Given the description of an element on the screen output the (x, y) to click on. 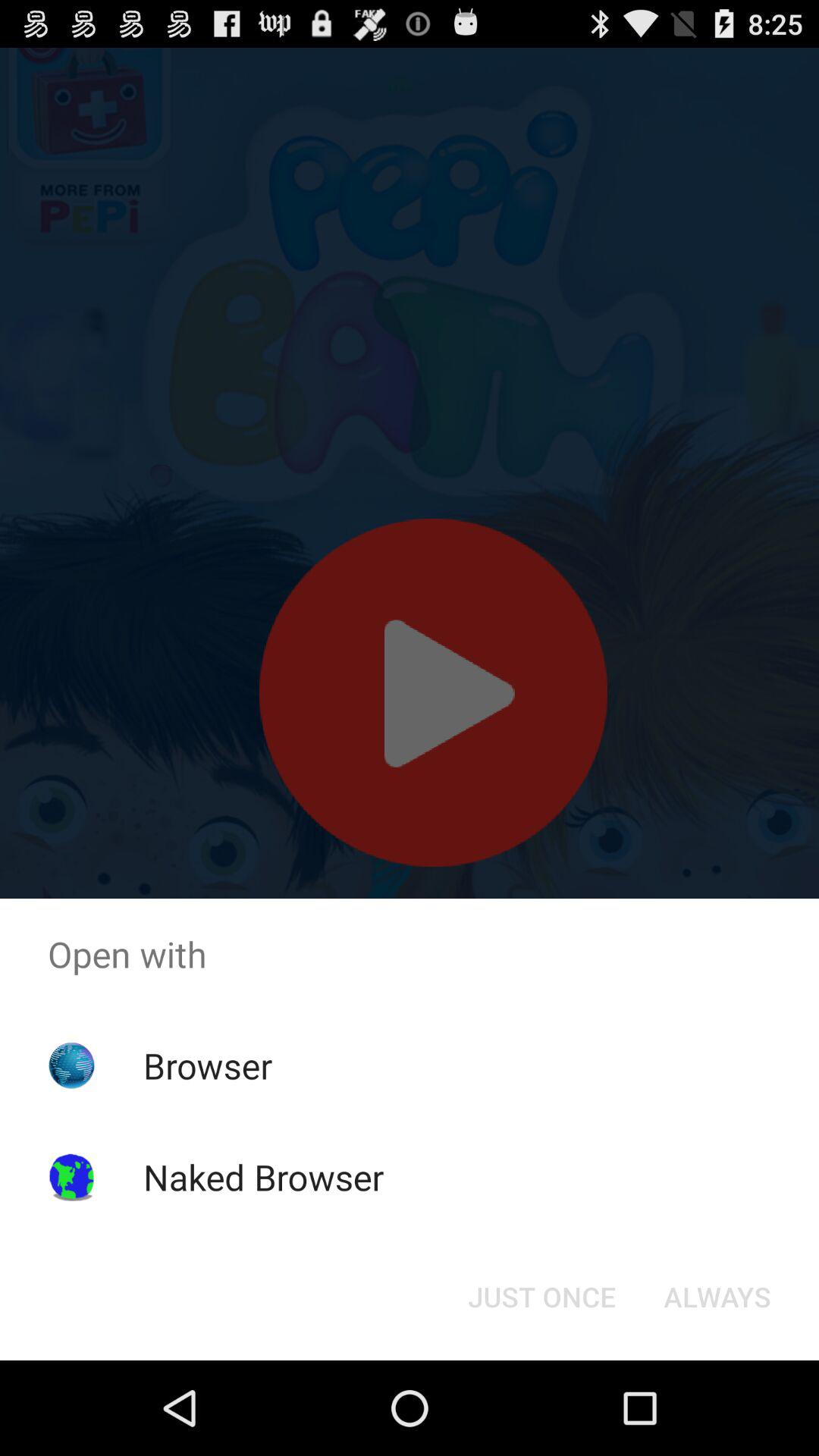
click the just once icon (541, 1296)
